Given the description of an element on the screen output the (x, y) to click on. 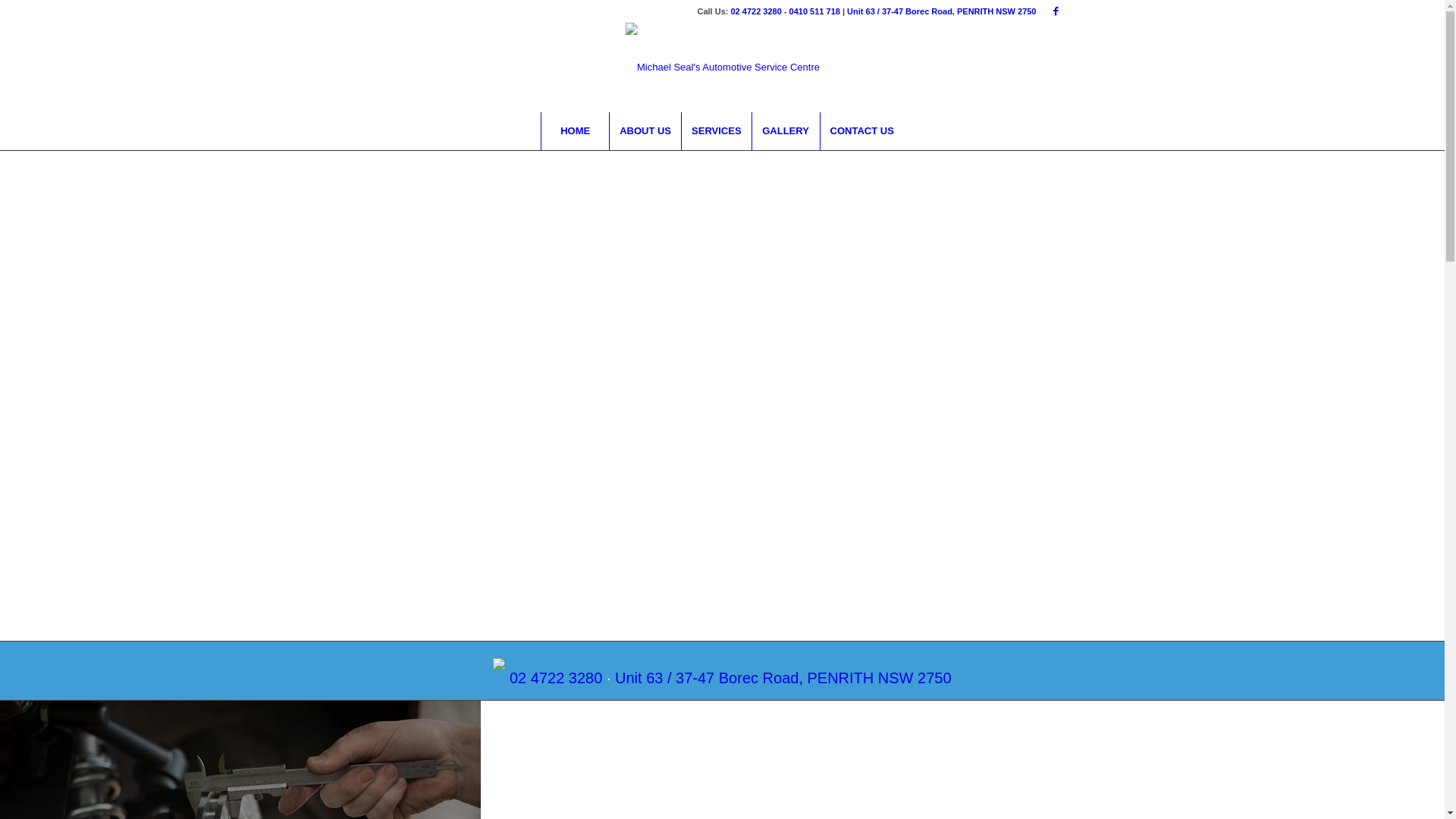
Previous Element type: text (33, 395)
ABOUT US Element type: text (644, 131)
3 Element type: text (734, 583)
Unit 63 / 37-47 Borec Road, PENRITH NSW 2750 Element type: text (783, 677)
02 4722 3280 Element type: text (555, 677)
2 Element type: text (722, 583)
1 Element type: text (710, 583)
SERVICES Element type: text (715, 131)
Next Element type: text (1410, 395)
02 4722 3280 Element type: text (756, 10)
GALLERY Element type: text (785, 131)
0410 511 718 Element type: text (814, 10)
CONTACT US Element type: text (861, 131)
HOME Element type: text (574, 131)
Facebook Element type: hover (1055, 11)
Unit 63 / 37-47 Borec Road, PENRITH NSW 2750 Element type: text (941, 10)
